Given the description of an element on the screen output the (x, y) to click on. 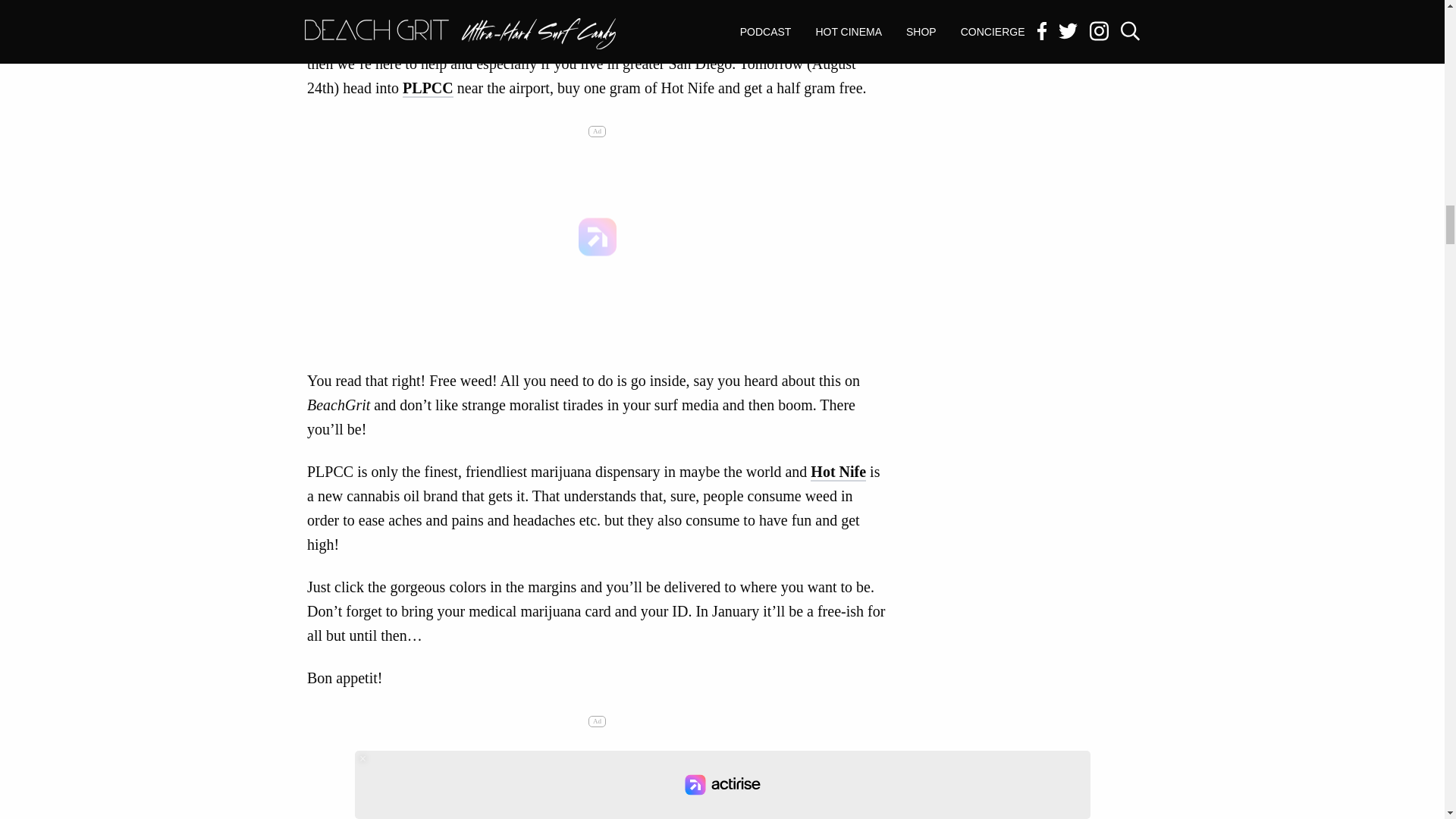
Hot Nife (838, 472)
PLPCC (427, 88)
